Given the description of an element on the screen output the (x, y) to click on. 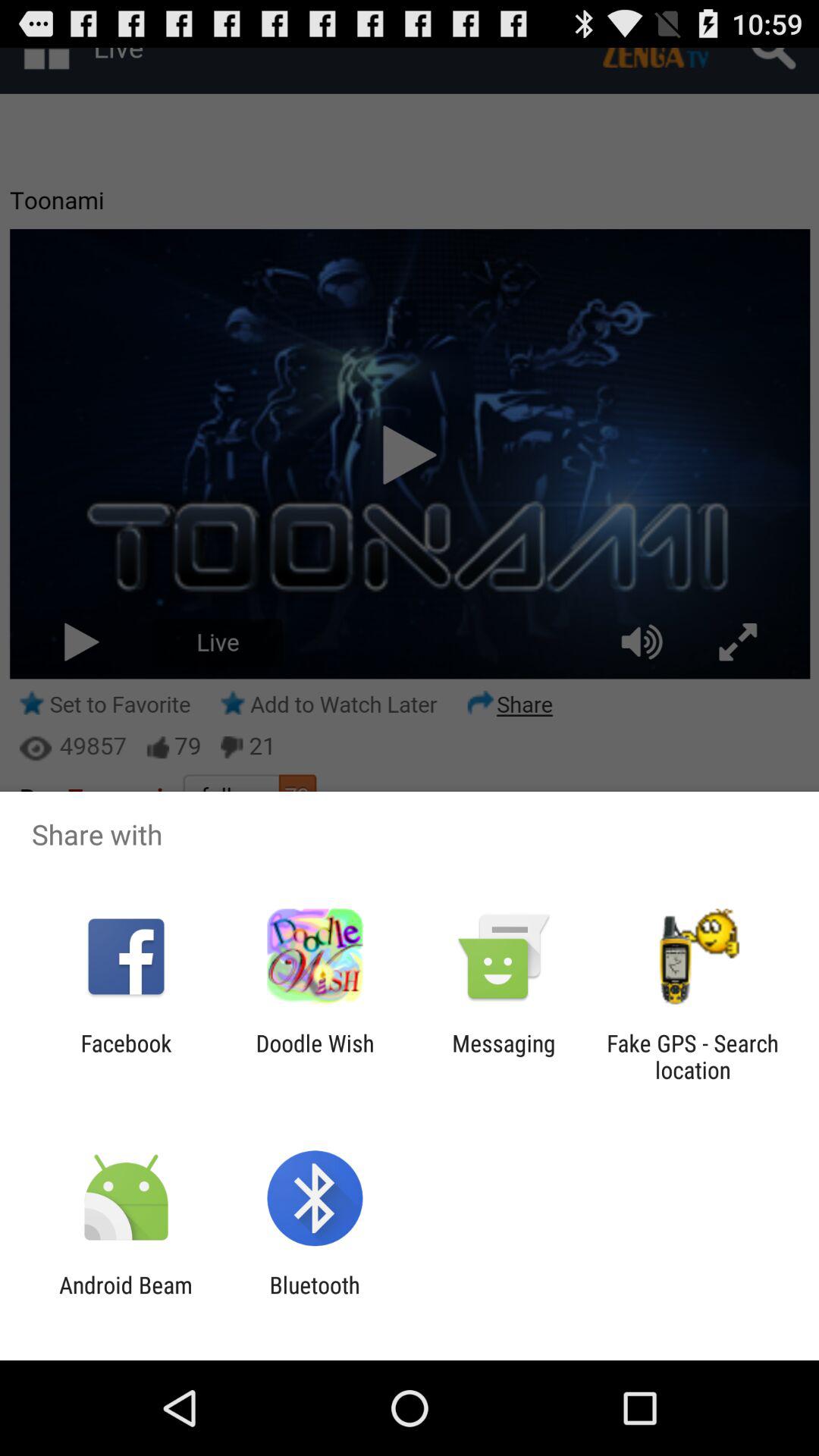
press the app to the right of the messaging item (692, 1056)
